Given the description of an element on the screen output the (x, y) to click on. 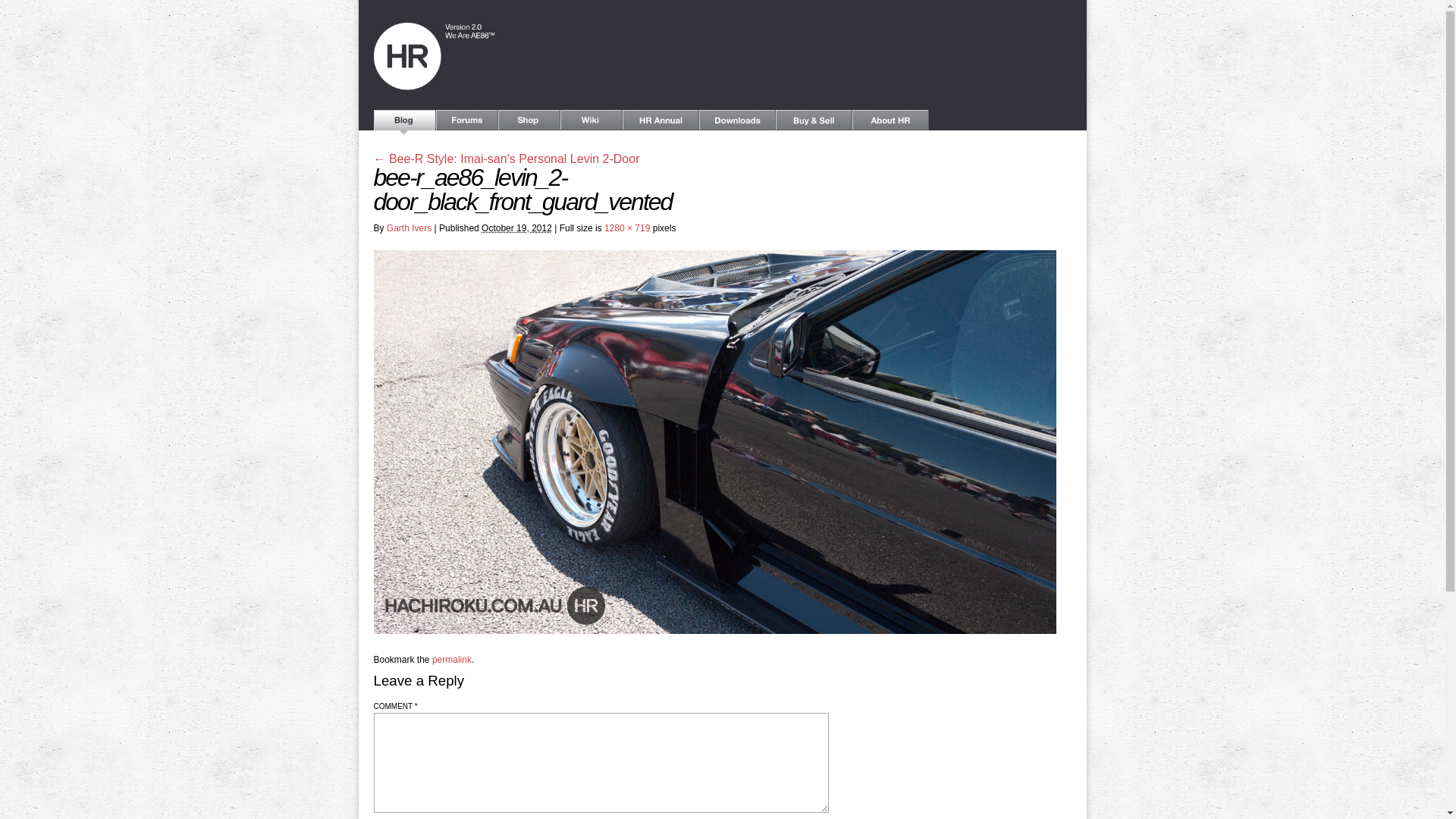
Garth Ivers Element type: text (408, 227)
  Element type: text (890, 121)
  Element type: text (737, 121)
permalink Element type: text (451, 659)
bee-r_ae86_levin_2-door_black_front_guard_vented Element type: hover (714, 630)
  Element type: text (590, 121)
  Element type: text (659, 121)
  Element type: text (466, 121)
  Element type: text (528, 121)
  Element type: text (813, 121)
  Element type: text (404, 121)
